Given the description of an element on the screen output the (x, y) to click on. 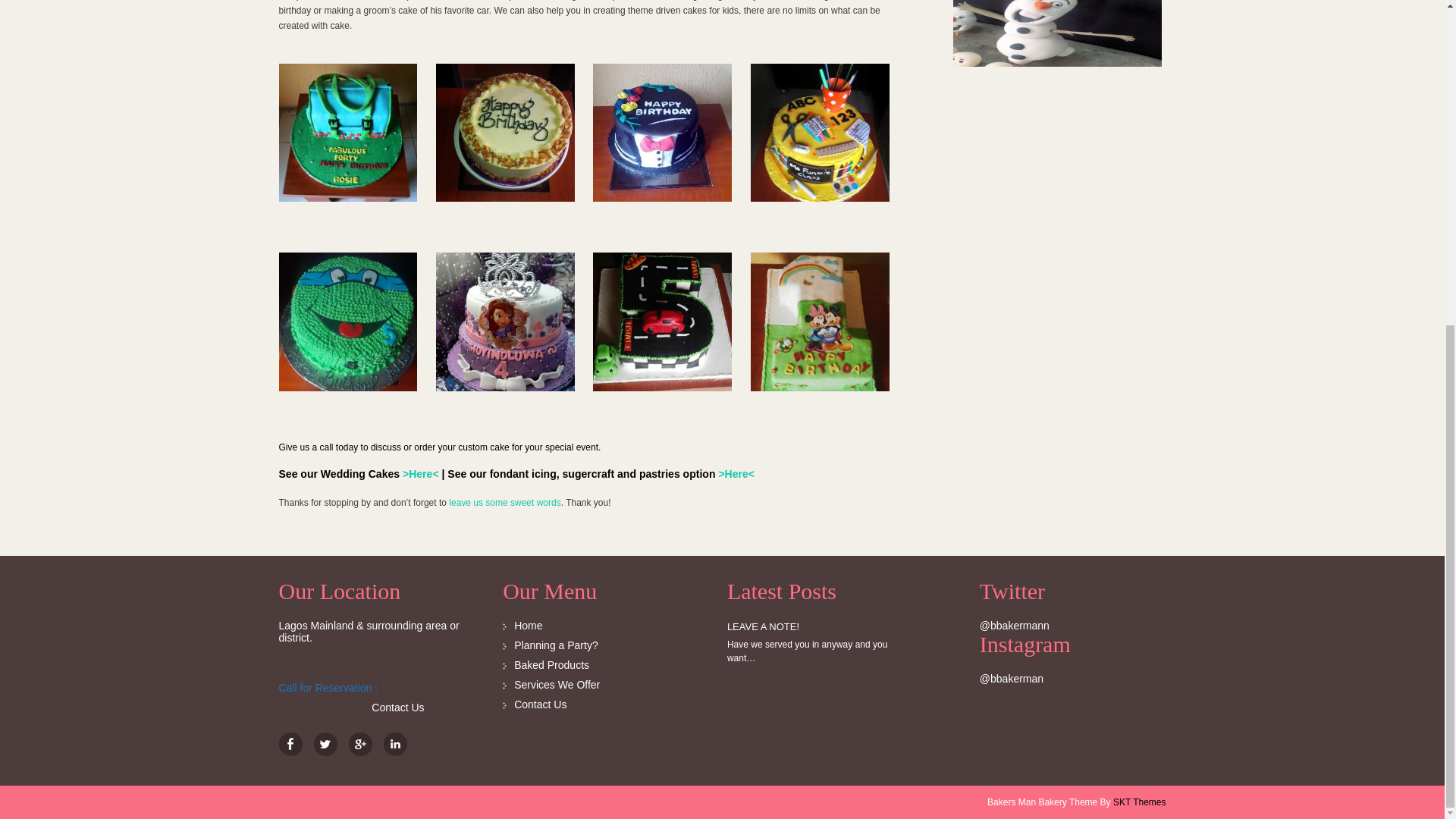
Home (527, 625)
Services We Offer (556, 684)
LEAVE A NOTE! (762, 626)
Baked Products (551, 664)
leave us some sweet words (504, 502)
SKT Themes (1139, 801)
Contact Us (539, 704)
Planning a Party? (555, 645)
